Given the description of an element on the screen output the (x, y) to click on. 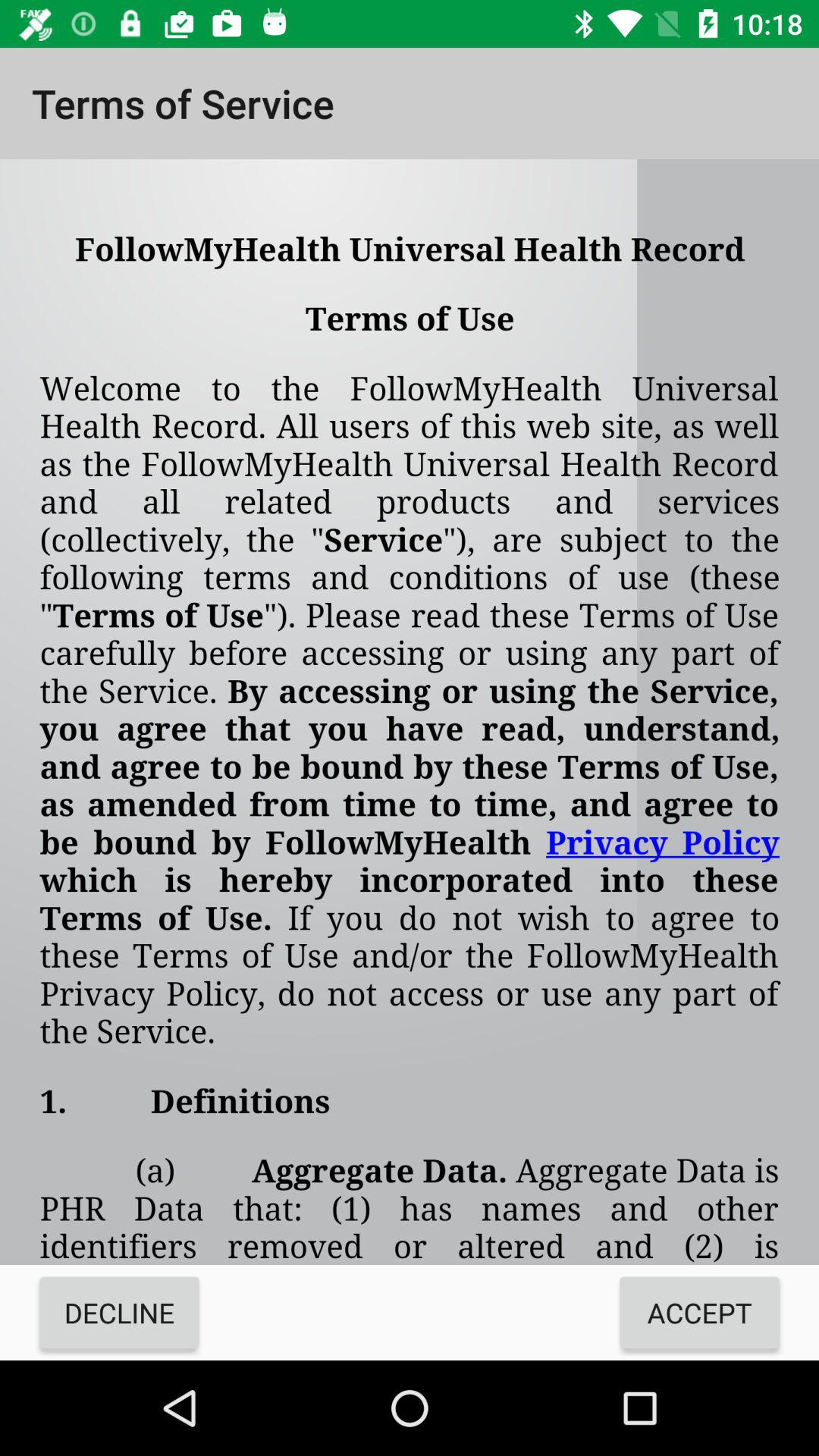
scrollable page (409, 711)
